Given the description of an element on the screen output the (x, y) to click on. 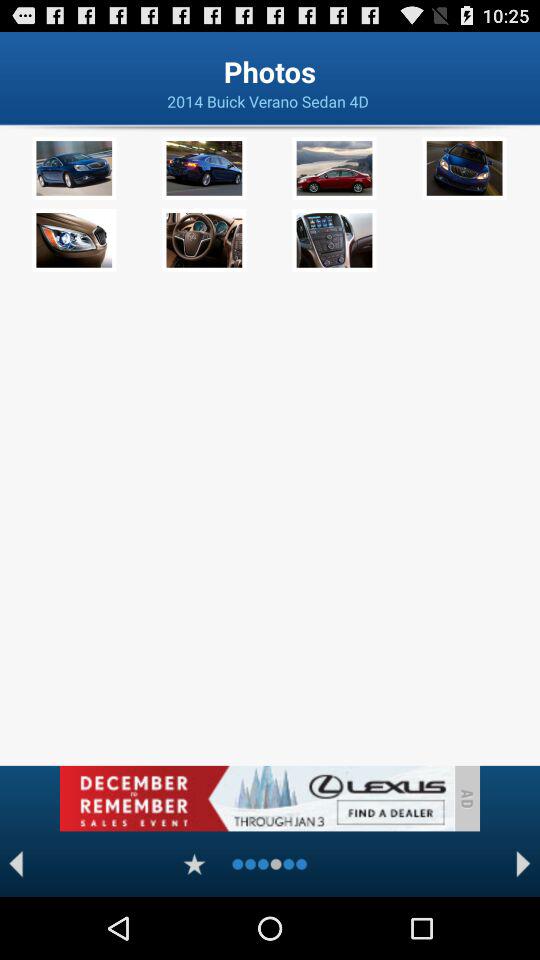
go to previous (16, 864)
